Given the description of an element on the screen output the (x, y) to click on. 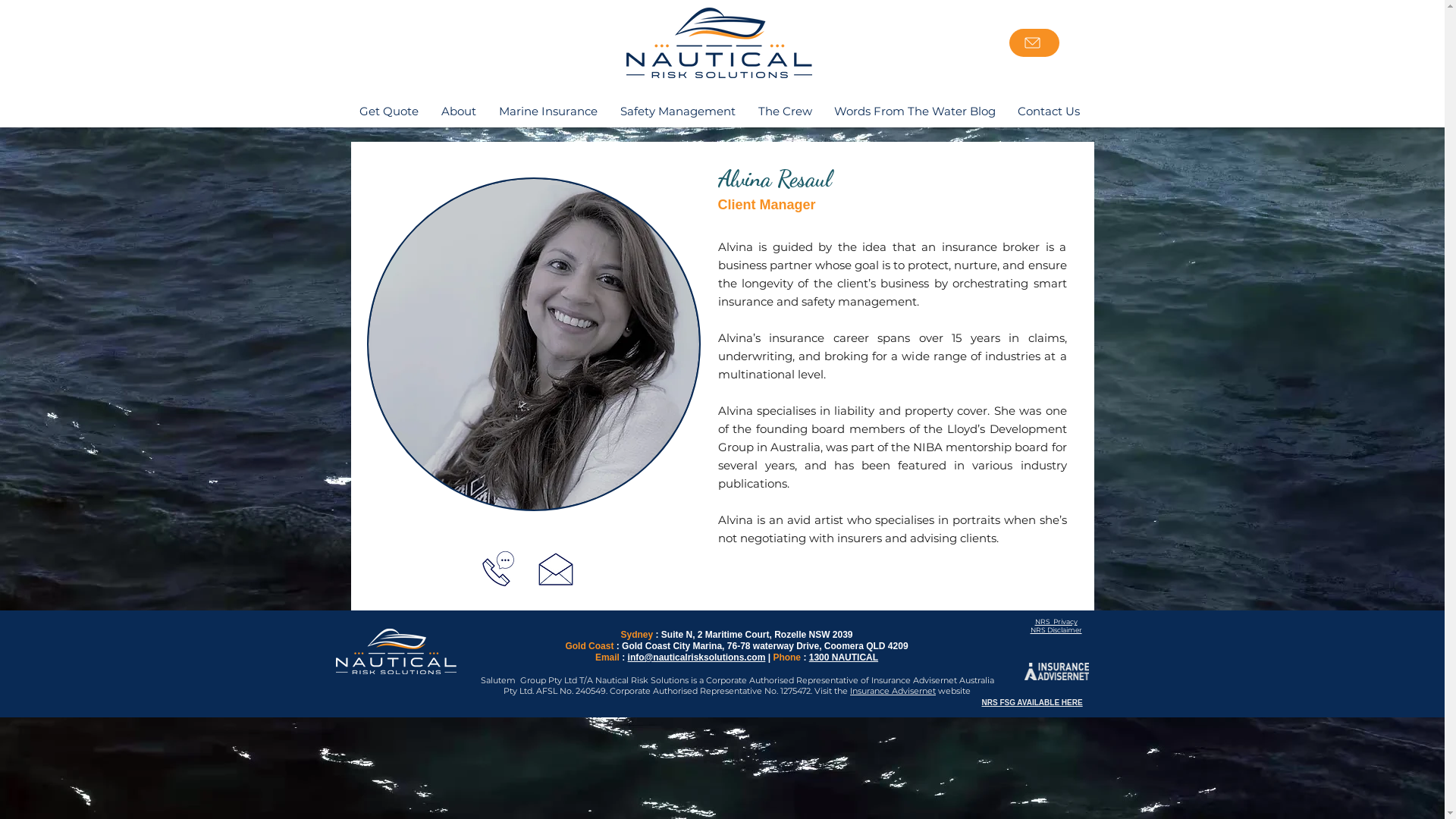
NRS FSG AVAILABLE HERE Element type: text (1031, 702)
1300 NAUTICAL Element type: text (843, 657)
Words From The Water Blog Element type: text (915, 111)
The Crew Element type: text (784, 111)
info@nauticalrisksolutions.com Element type: text (696, 657)
Insurance Advisernet Element type: text (892, 690)
Marine Insurance Element type: text (547, 111)
NRS  Privacy Element type: text (1055, 621)
Get Quote Element type: text (388, 111)
NRS Disclaimer Element type: text (1055, 629)
Safety Management Element type: text (677, 111)
Contact Us Element type: text (1049, 111)
About Element type: text (457, 111)
